Given the description of an element on the screen output the (x, y) to click on. 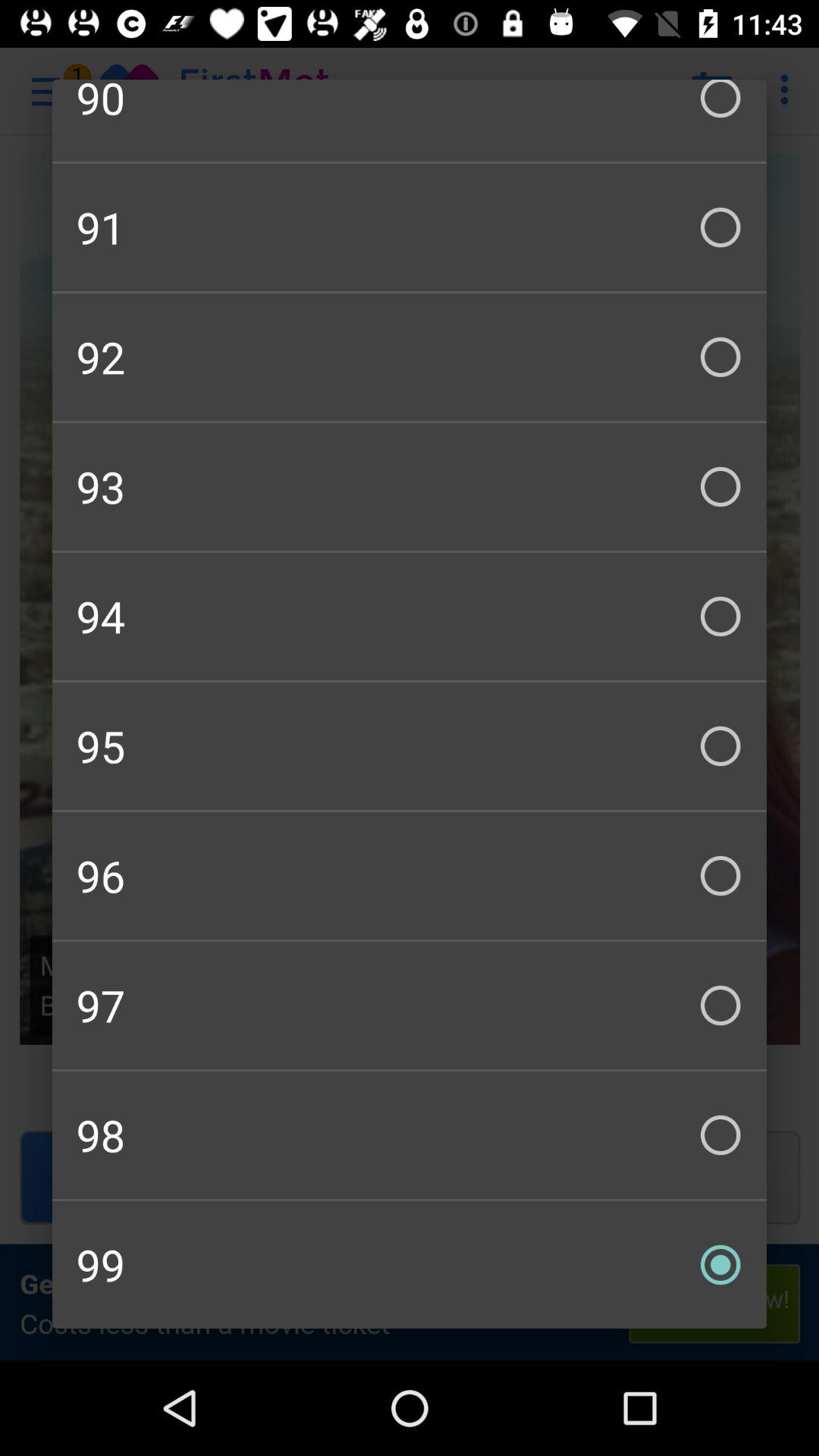
turn off the icon above 99 checkbox (409, 1134)
